Given the description of an element on the screen output the (x, y) to click on. 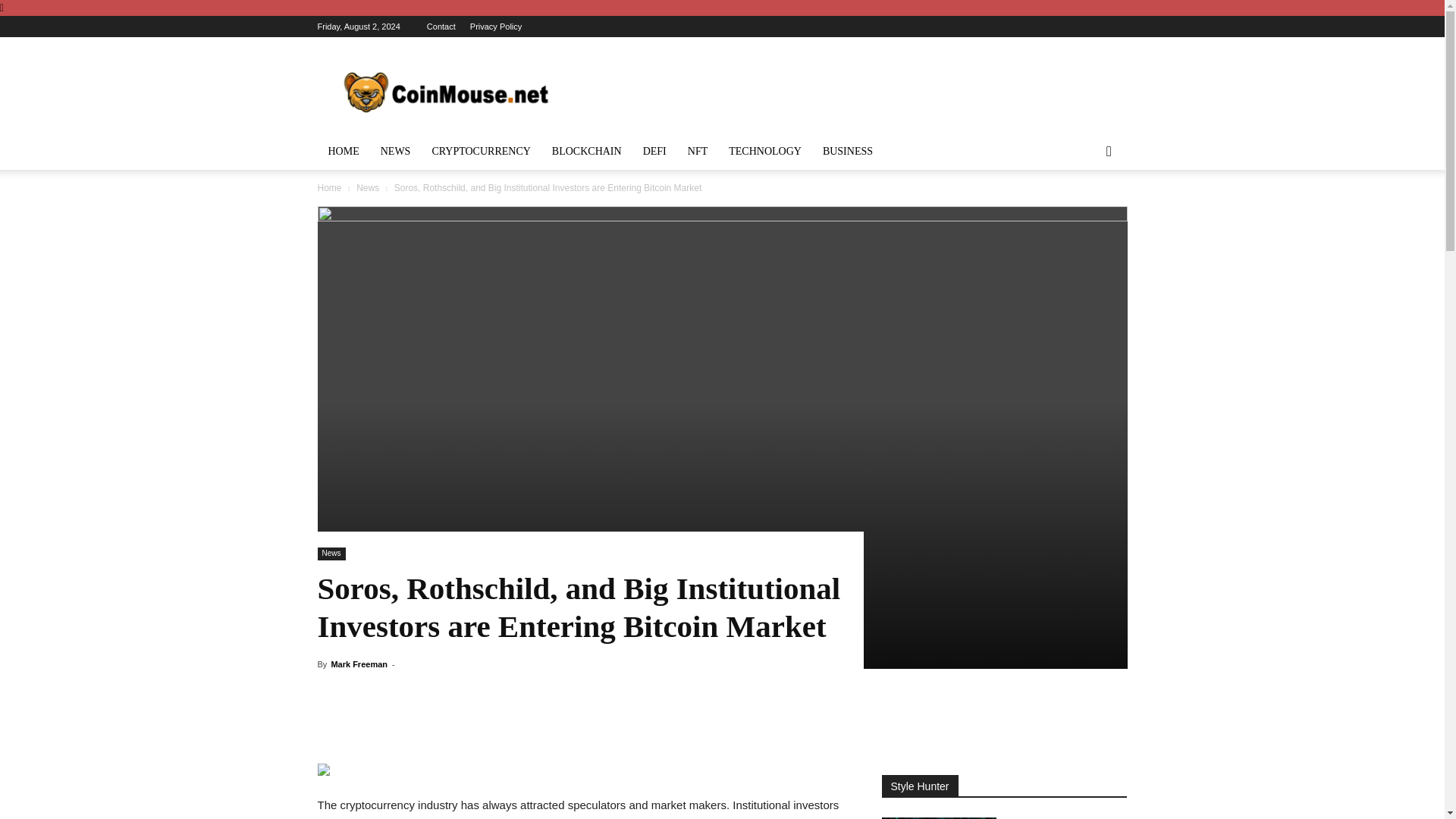
Contact (440, 26)
NEWS (395, 151)
Privacy Policy (495, 26)
HOME (343, 151)
